Given the description of an element on the screen output the (x, y) to click on. 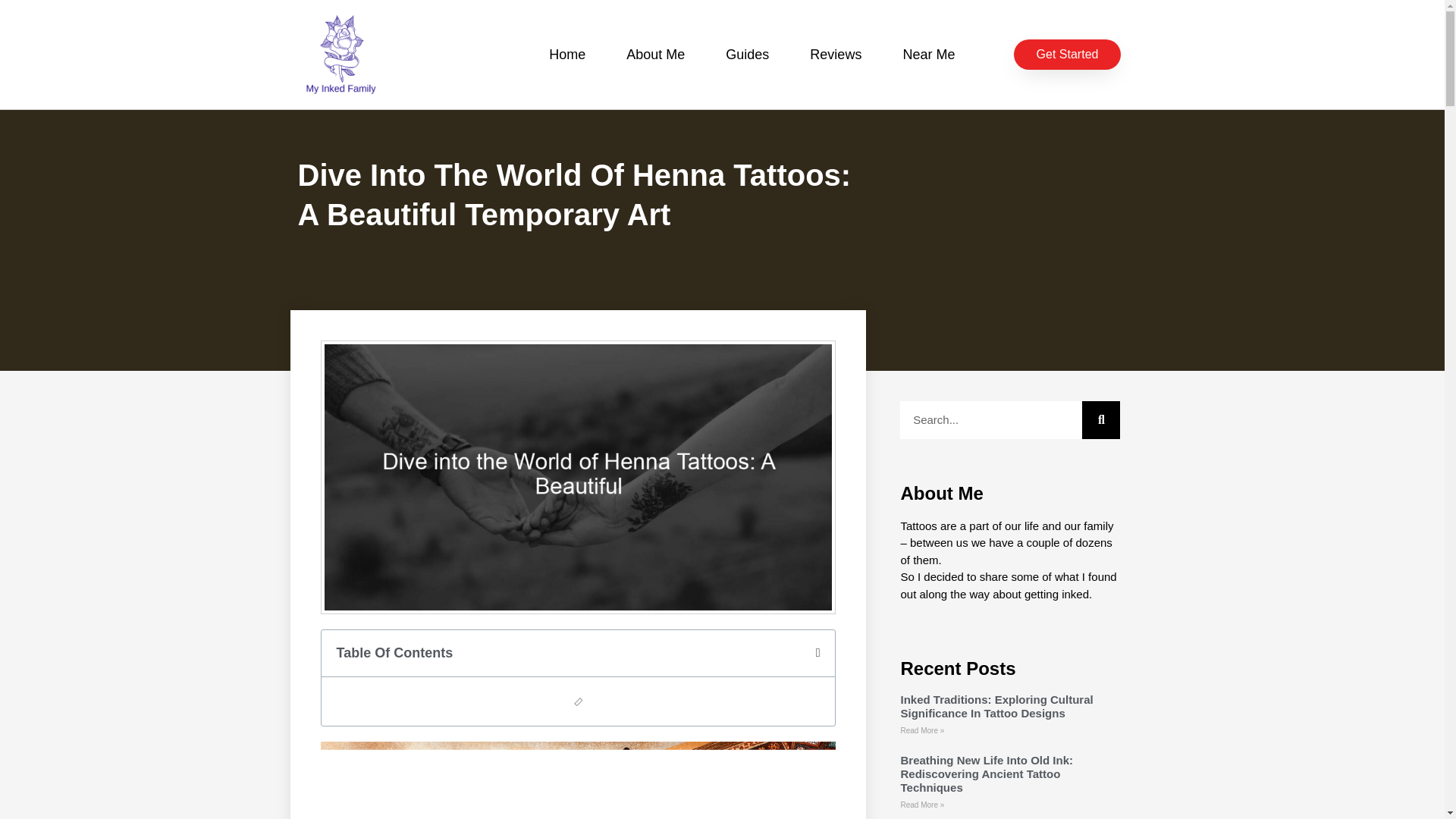
Home (566, 54)
Near Me (928, 54)
Guides (746, 54)
Reviews (835, 54)
Search (1100, 419)
Search (990, 419)
About Me (654, 54)
Get Started (1067, 54)
